Given the description of an element on the screen output the (x, y) to click on. 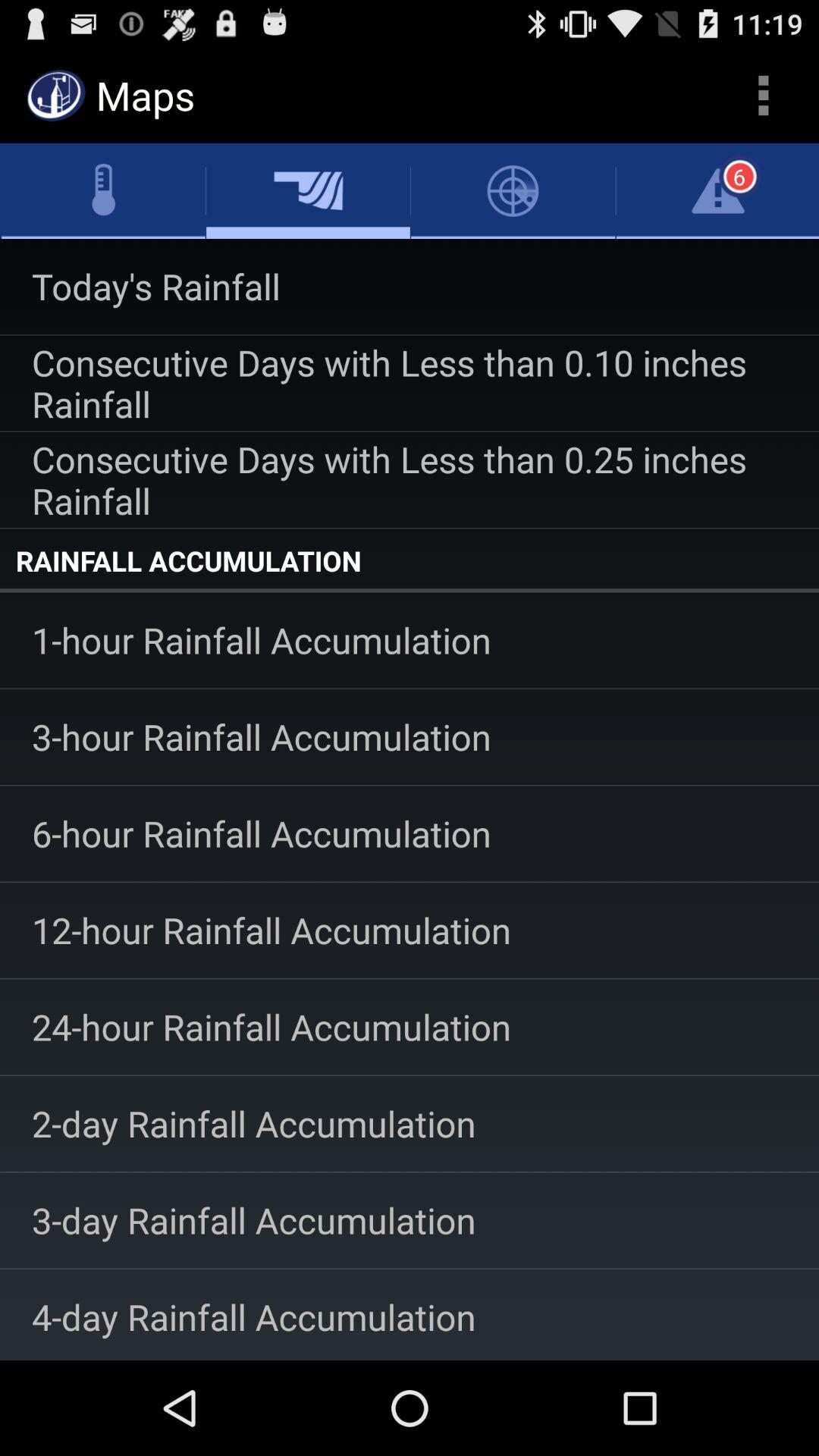
turn off the app above consecutive days with icon (409, 286)
